Given the description of an element on the screen output the (x, y) to click on. 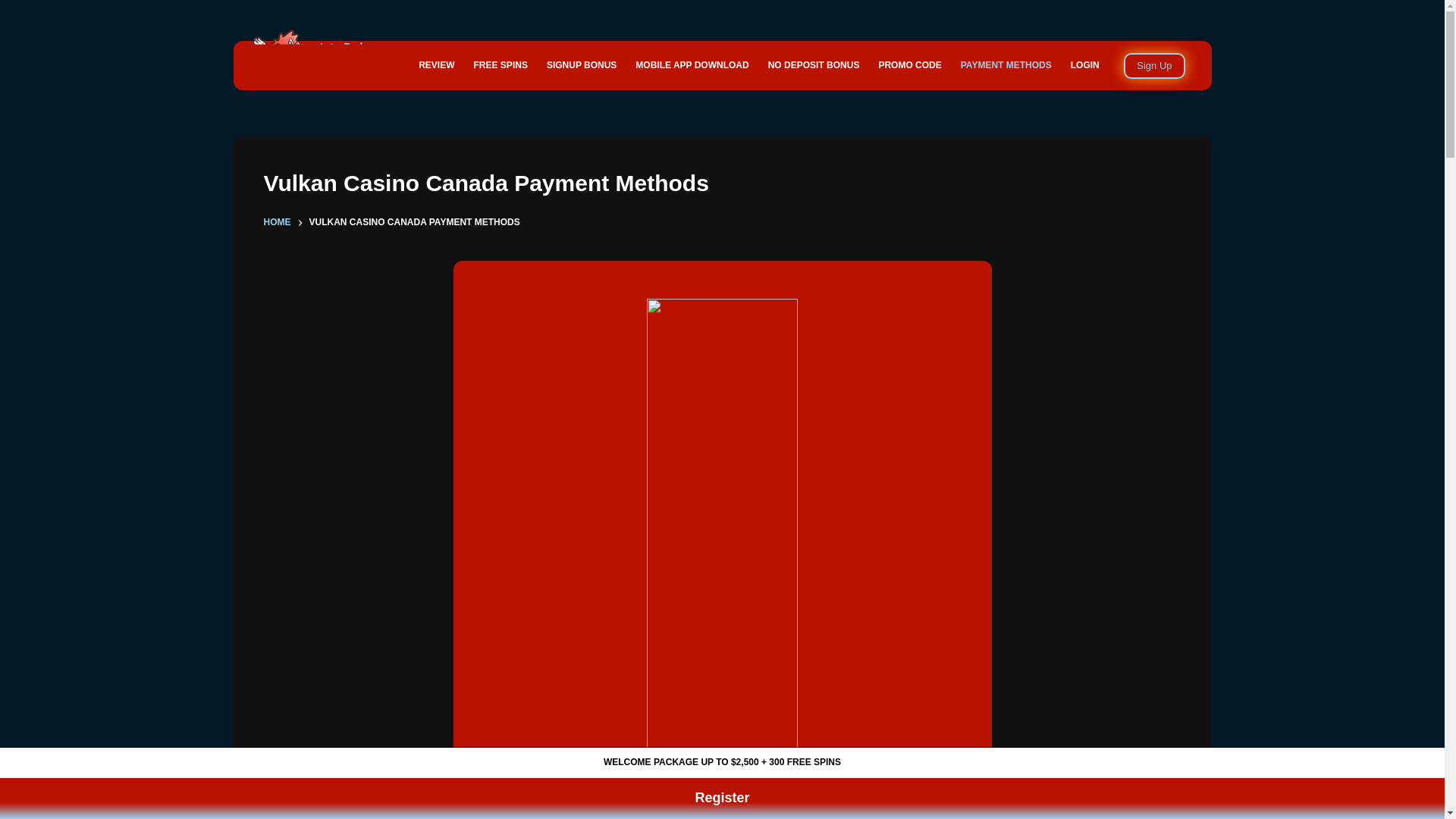
MOBILE APP DOWNLOAD (692, 65)
SIGNUP BONUS (581, 65)
Skip to content (15, 7)
PAYMENT METHODS (1005, 65)
FREE SPINS (500, 65)
REVIEW (436, 65)
PROMO CODE (909, 65)
Vulkan Casino Canada Payment Methods (721, 182)
NO DEPOSIT BONUS (813, 65)
Sign Up (1154, 65)
HOME (277, 222)
LOGIN (1084, 65)
